Given the description of an element on the screen output the (x, y) to click on. 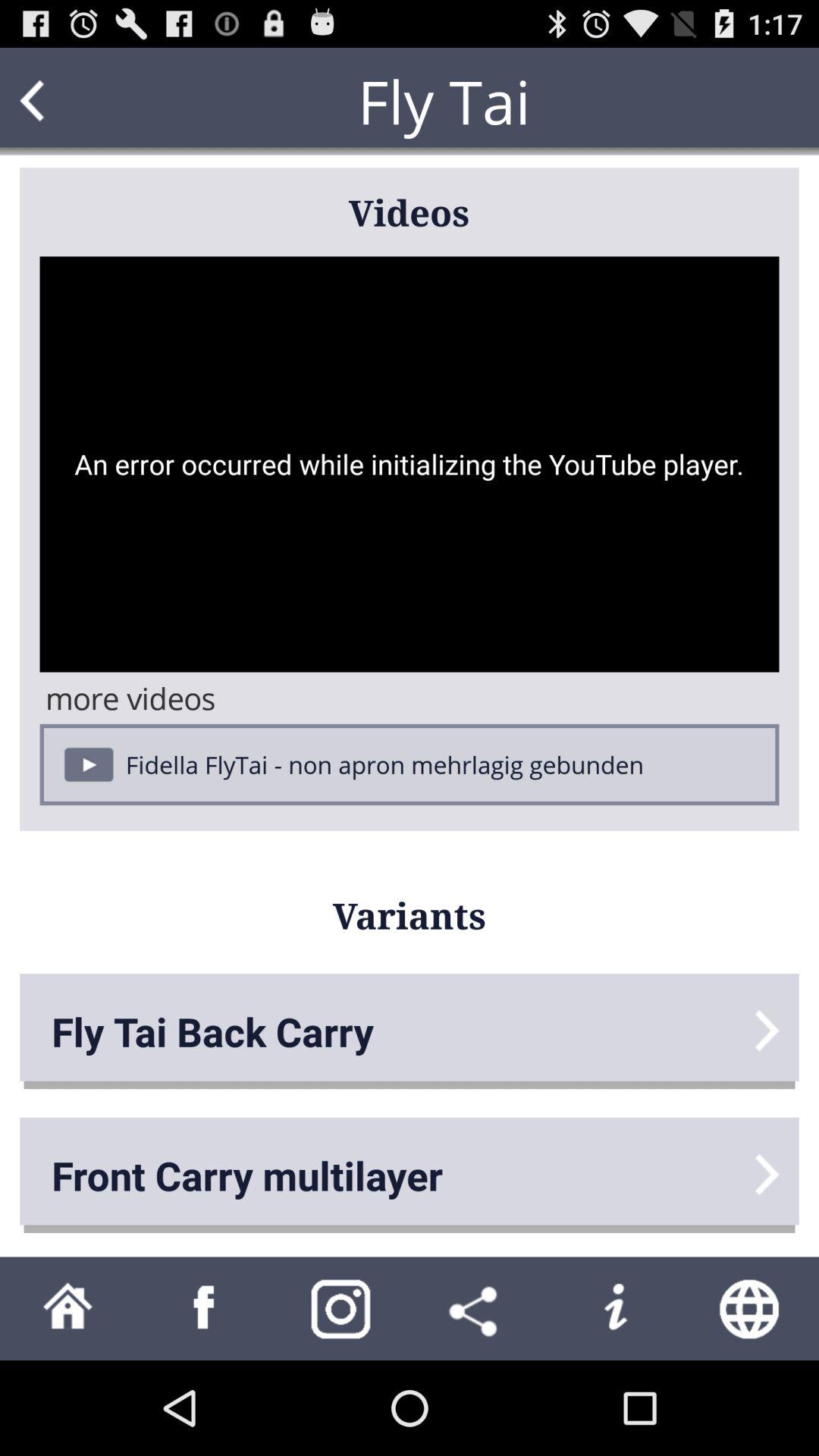
go back to previous screen (61, 101)
